Given the description of an element on the screen output the (x, y) to click on. 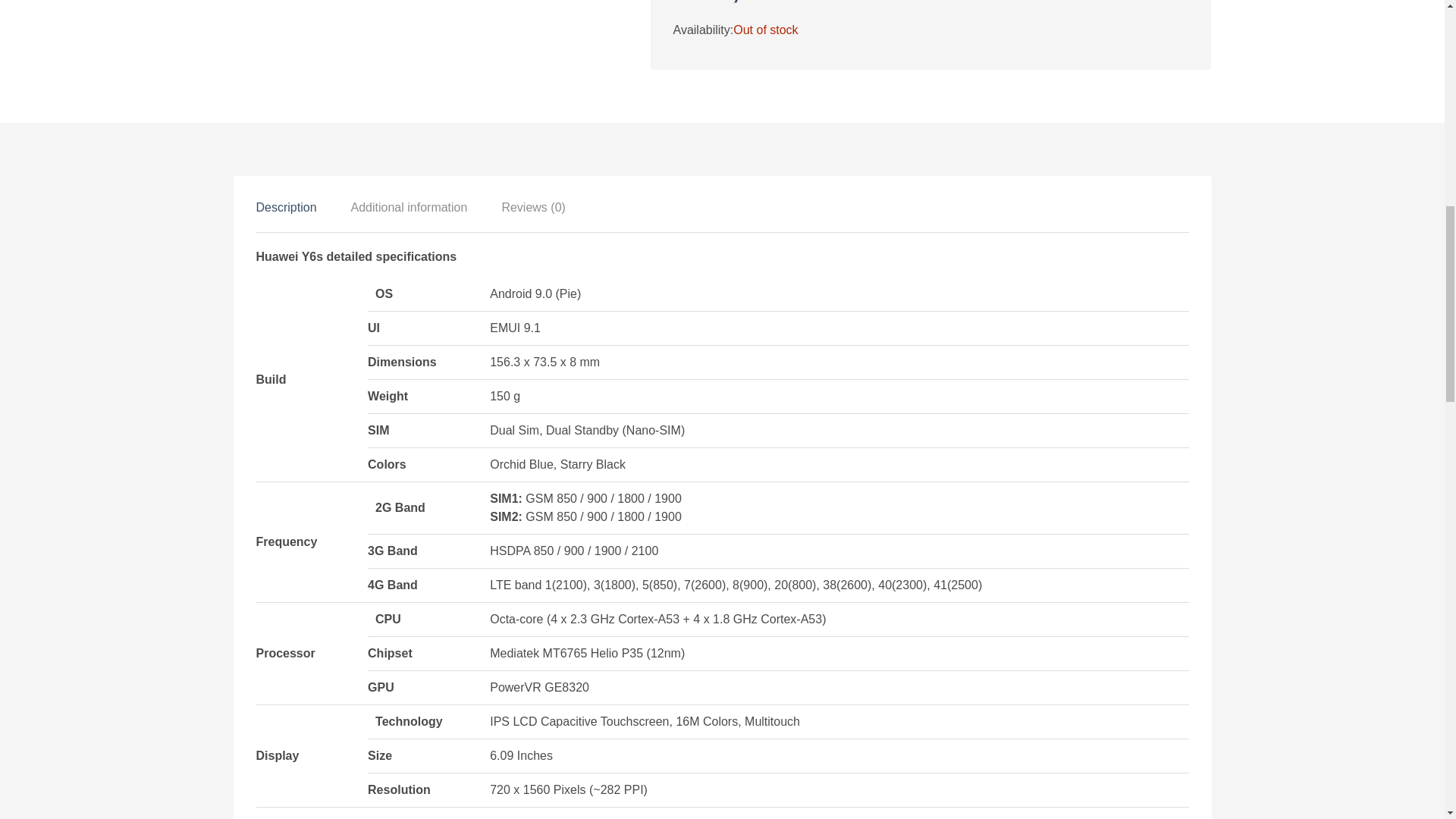
Description (286, 206)
Additional information (408, 206)
